Given the description of an element on the screen output the (x, y) to click on. 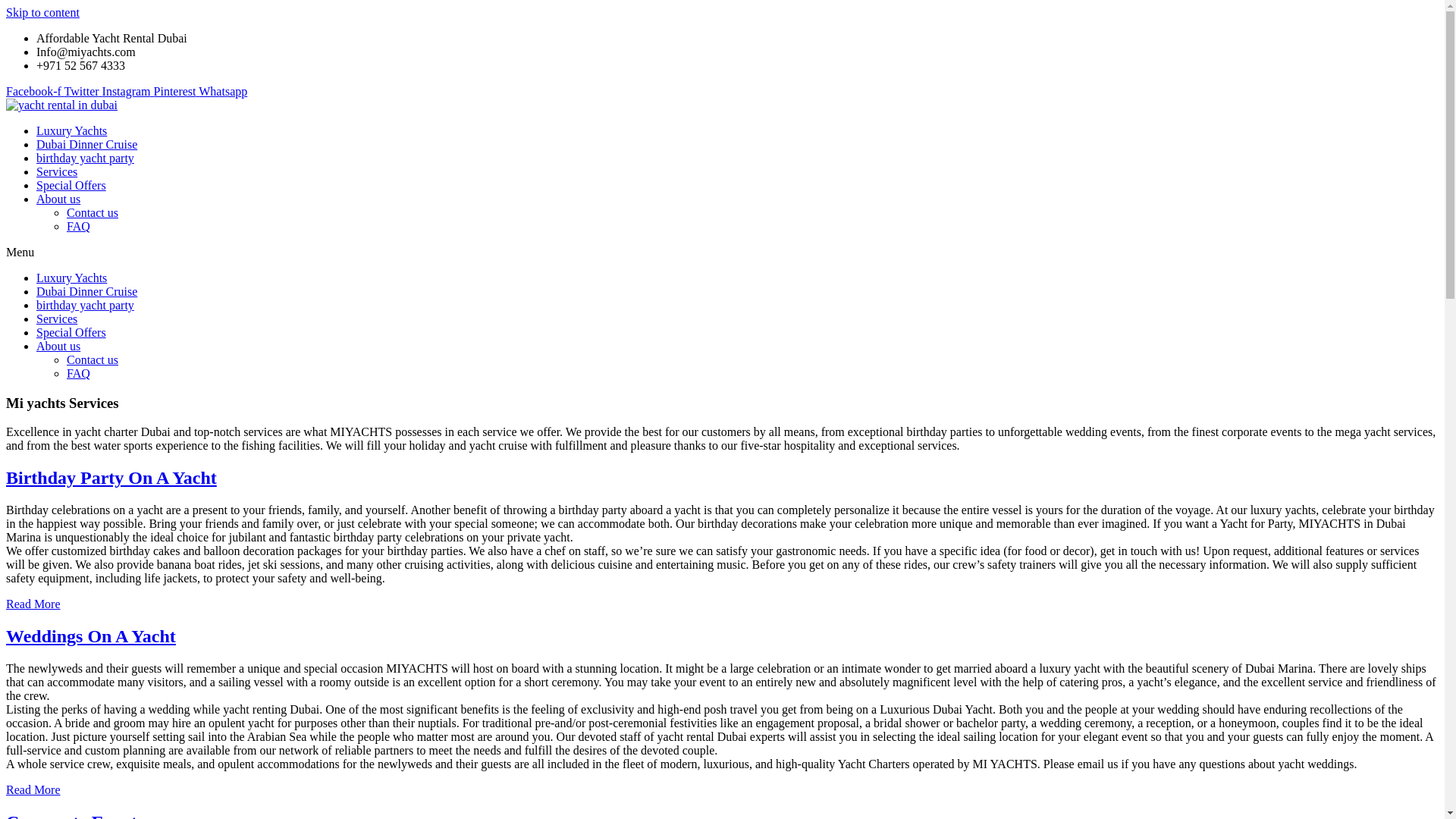
FAQ (78, 373)
Services (56, 318)
Contact us (91, 212)
Luxury Yachts (71, 130)
Contact us (91, 359)
Special Offers (71, 185)
Whatsapp (222, 91)
About us (58, 345)
Corporate Events (74, 815)
Skip to content (42, 11)
Luxury Yachts (71, 277)
Birthday Party On A Yacht (110, 477)
Instagram (127, 91)
Dubai Dinner Cruise (86, 144)
Read More (33, 789)
